Given the description of an element on the screen output the (x, y) to click on. 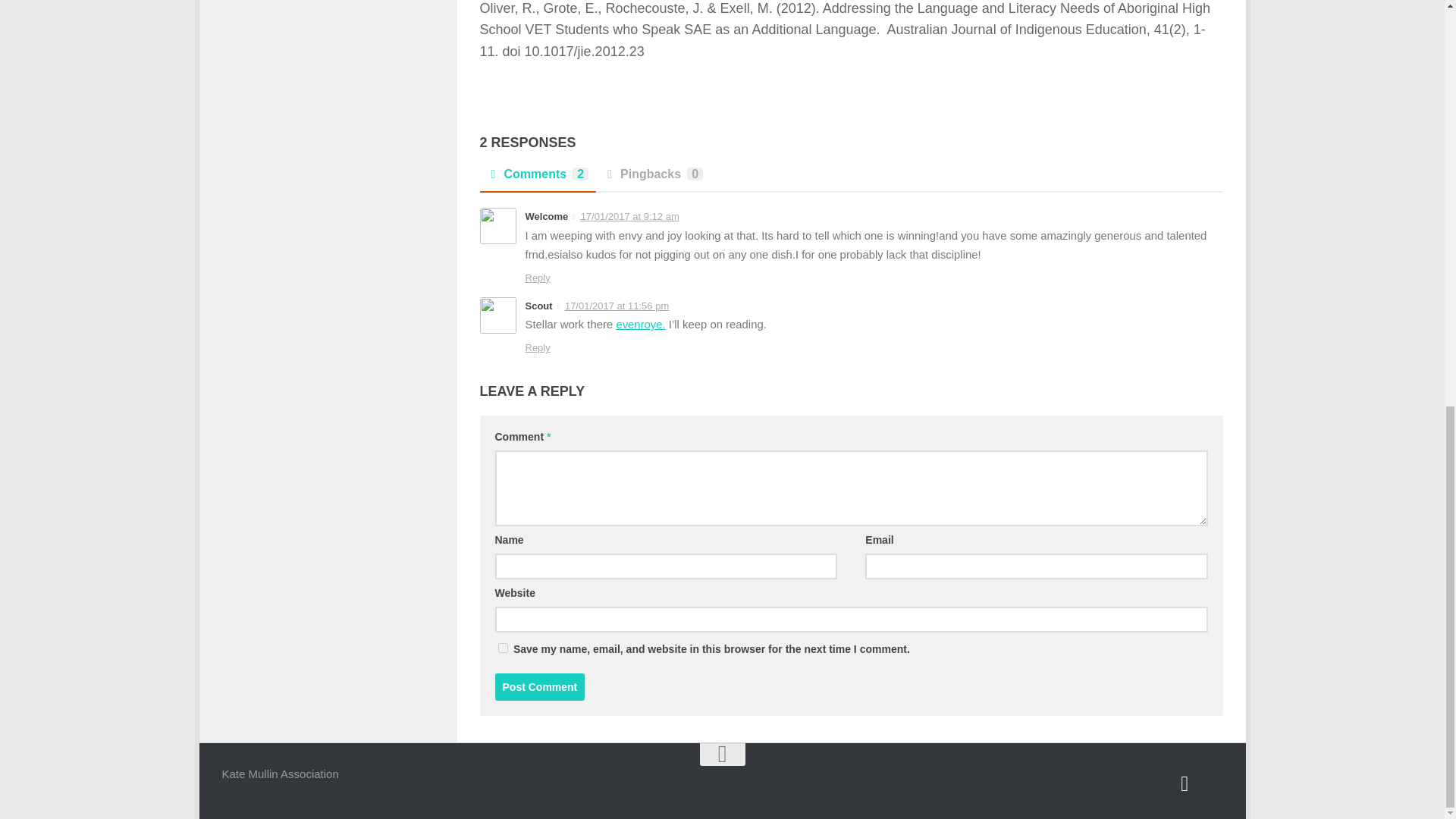
Post Comment (540, 687)
Facebook (1184, 783)
yes (501, 647)
